Given the description of an element on the screen output the (x, y) to click on. 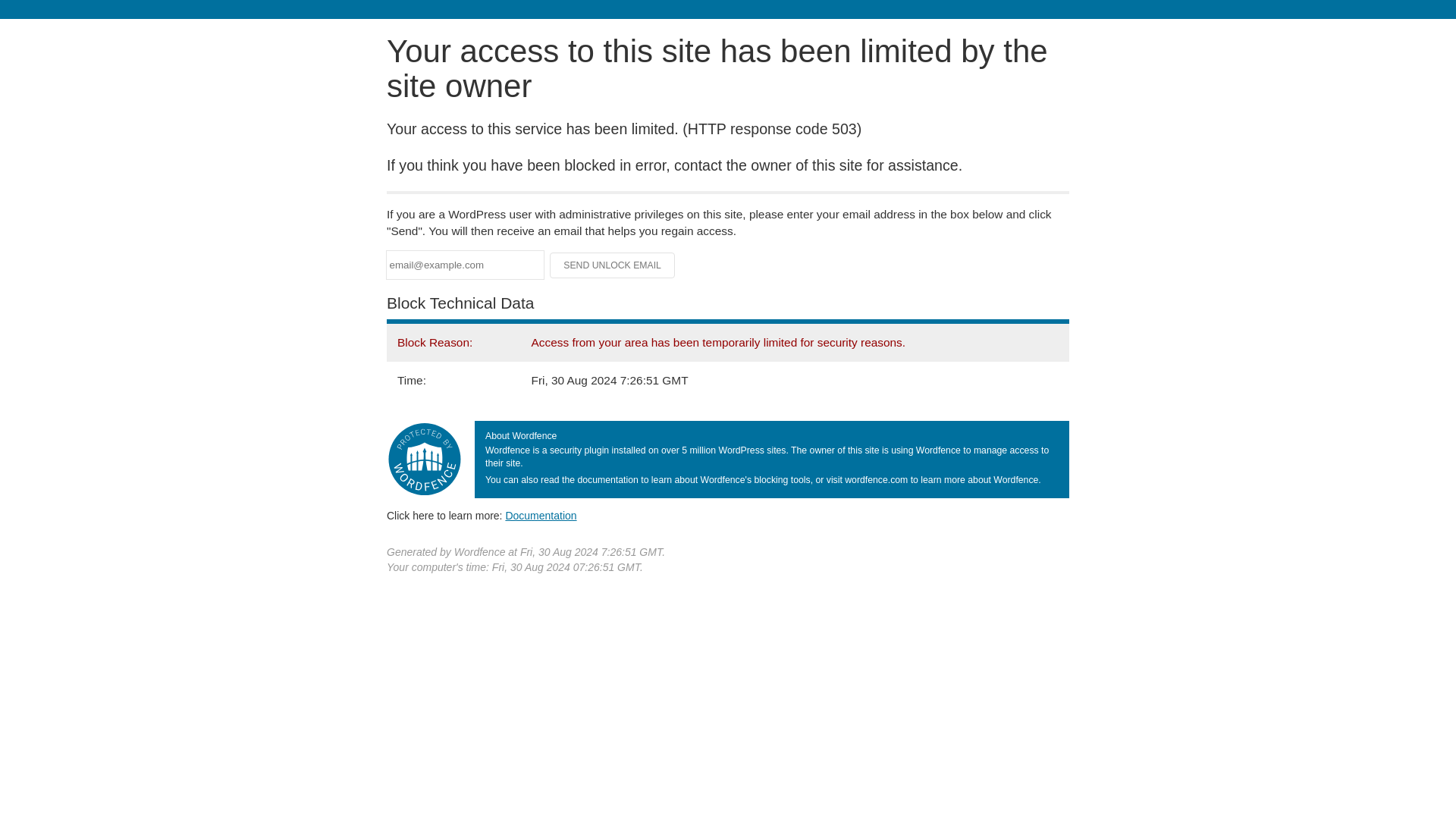
Documentation (540, 515)
Send Unlock Email (612, 265)
Send Unlock Email (612, 265)
